Given the description of an element on the screen output the (x, y) to click on. 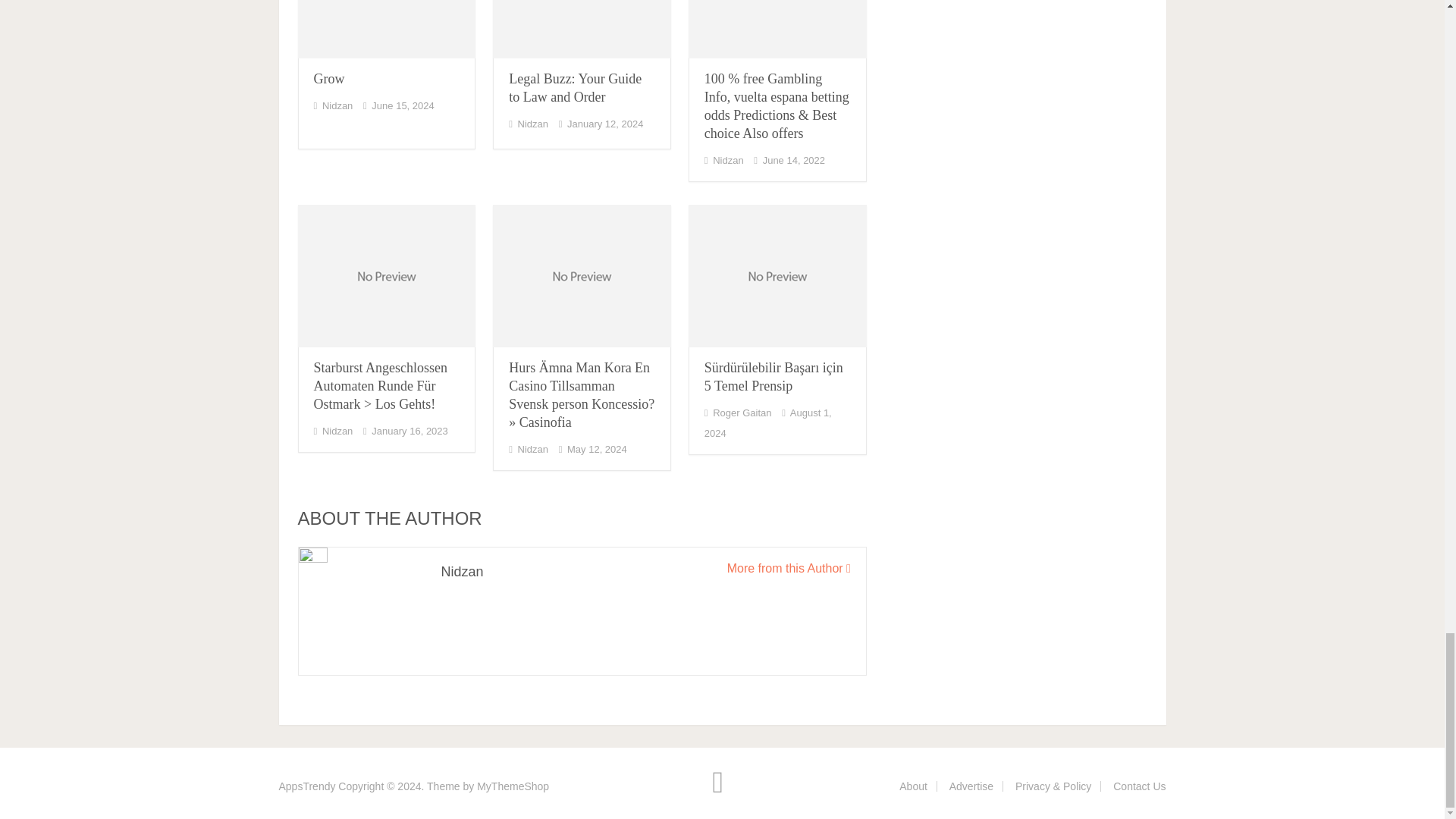
Grow (329, 78)
Legal Buzz: Your Guide to Law and Order (575, 87)
Legal Buzz: Your Guide to Law and Order (575, 87)
Posts by Nidzan (727, 160)
Nidzan (336, 105)
Grow (386, 29)
Posts by Nidzan (336, 105)
Posts by Nidzan (336, 430)
Legal Buzz: Your Guide to Law and Order (582, 29)
Grow (329, 78)
